Given the description of an element on the screen output the (x, y) to click on. 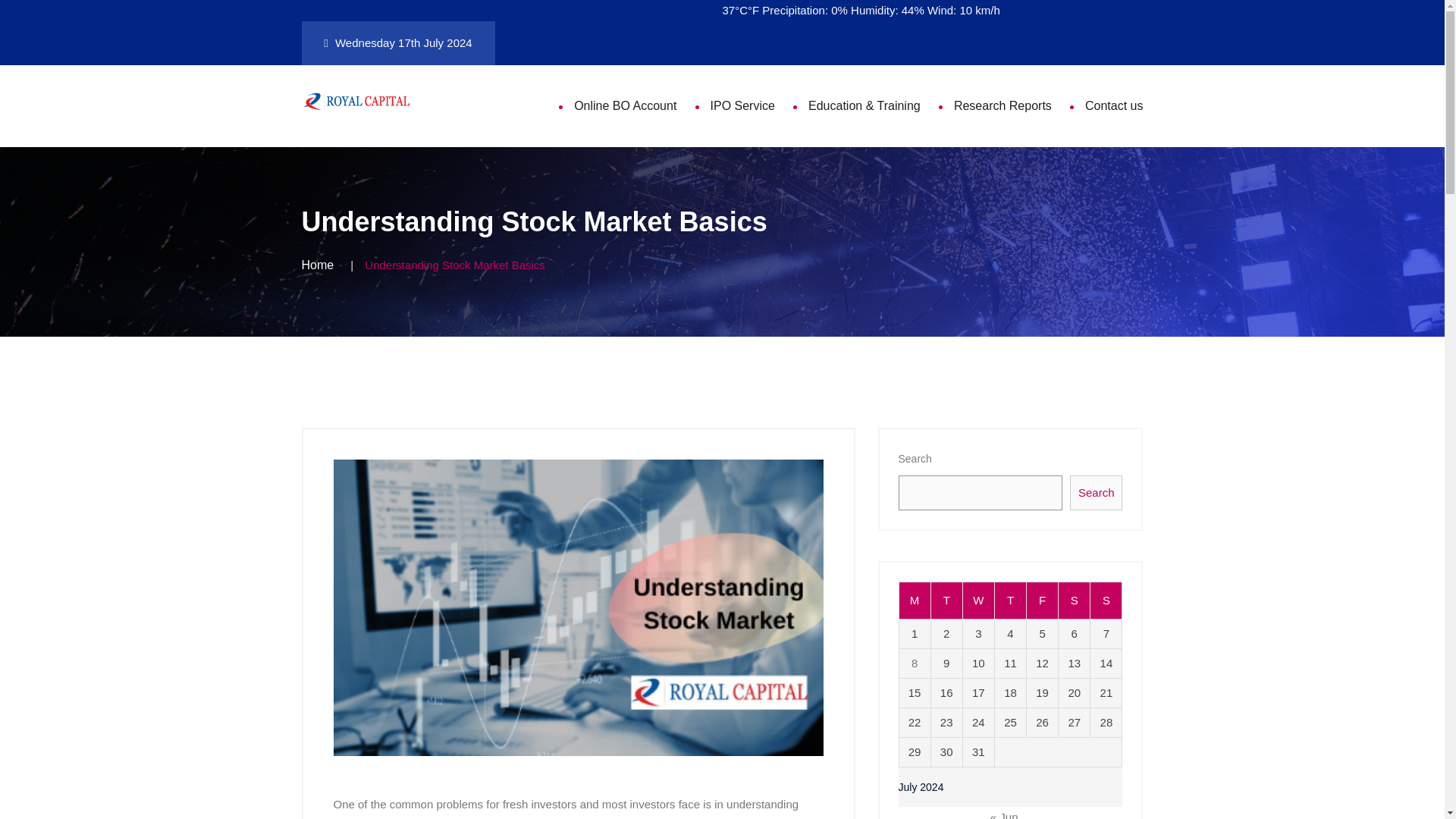
Saturday (1074, 600)
Research Reports (1002, 106)
IPO Service (742, 106)
Monday (914, 600)
Thursday (1010, 600)
Sunday (1106, 600)
Wednesday (978, 600)
Home (317, 264)
Tuesday (946, 600)
Friday (1042, 600)
Online BO Account (625, 106)
Search (1096, 492)
8 (914, 662)
Contact us (1113, 106)
